Given the description of an element on the screen output the (x, y) to click on. 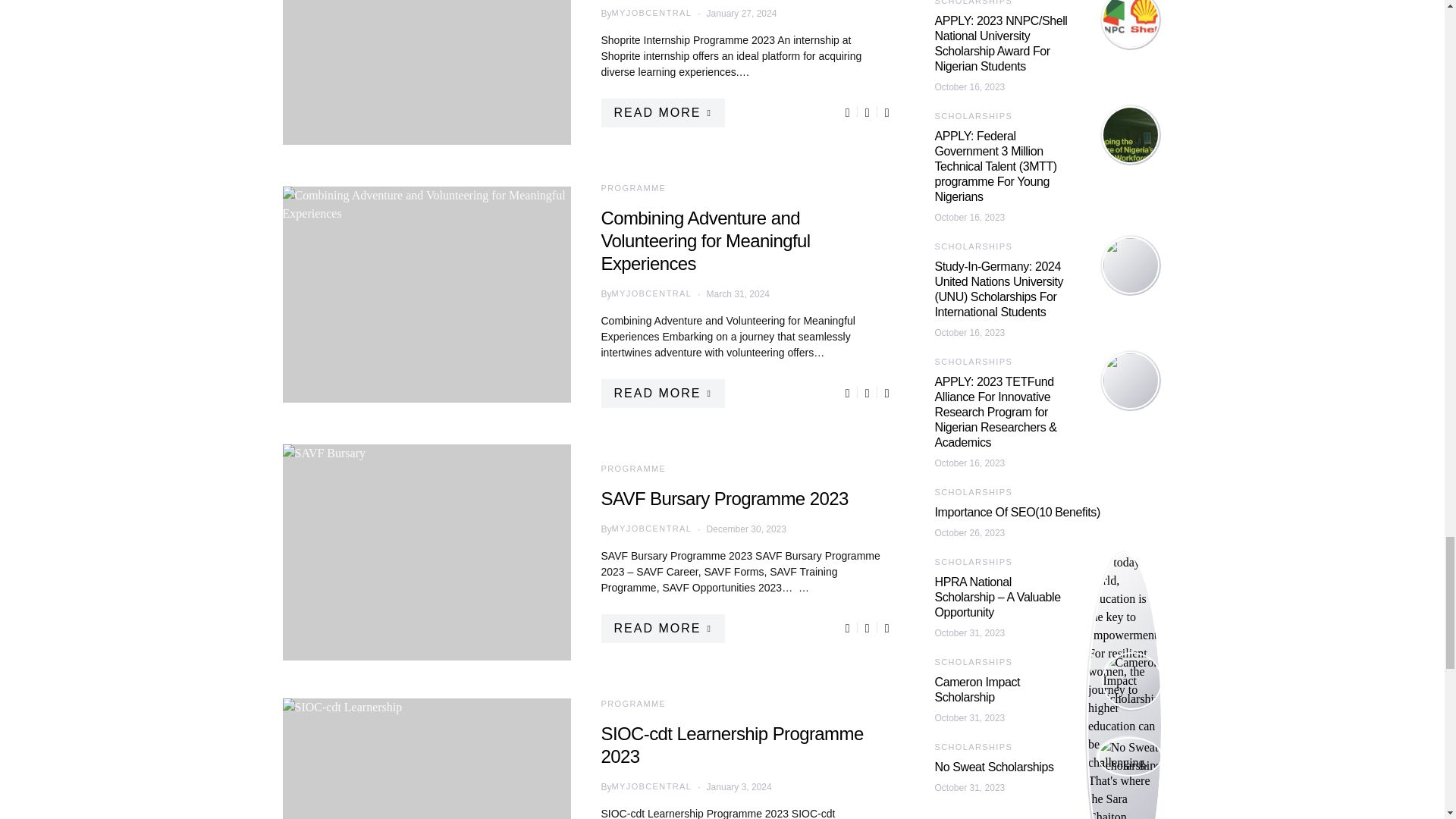
View all posts by myjobcentral (652, 786)
View all posts by myjobcentral (652, 12)
View all posts by myjobcentral (652, 528)
View all posts by myjobcentral (652, 293)
